Given the description of an element on the screen output the (x, y) to click on. 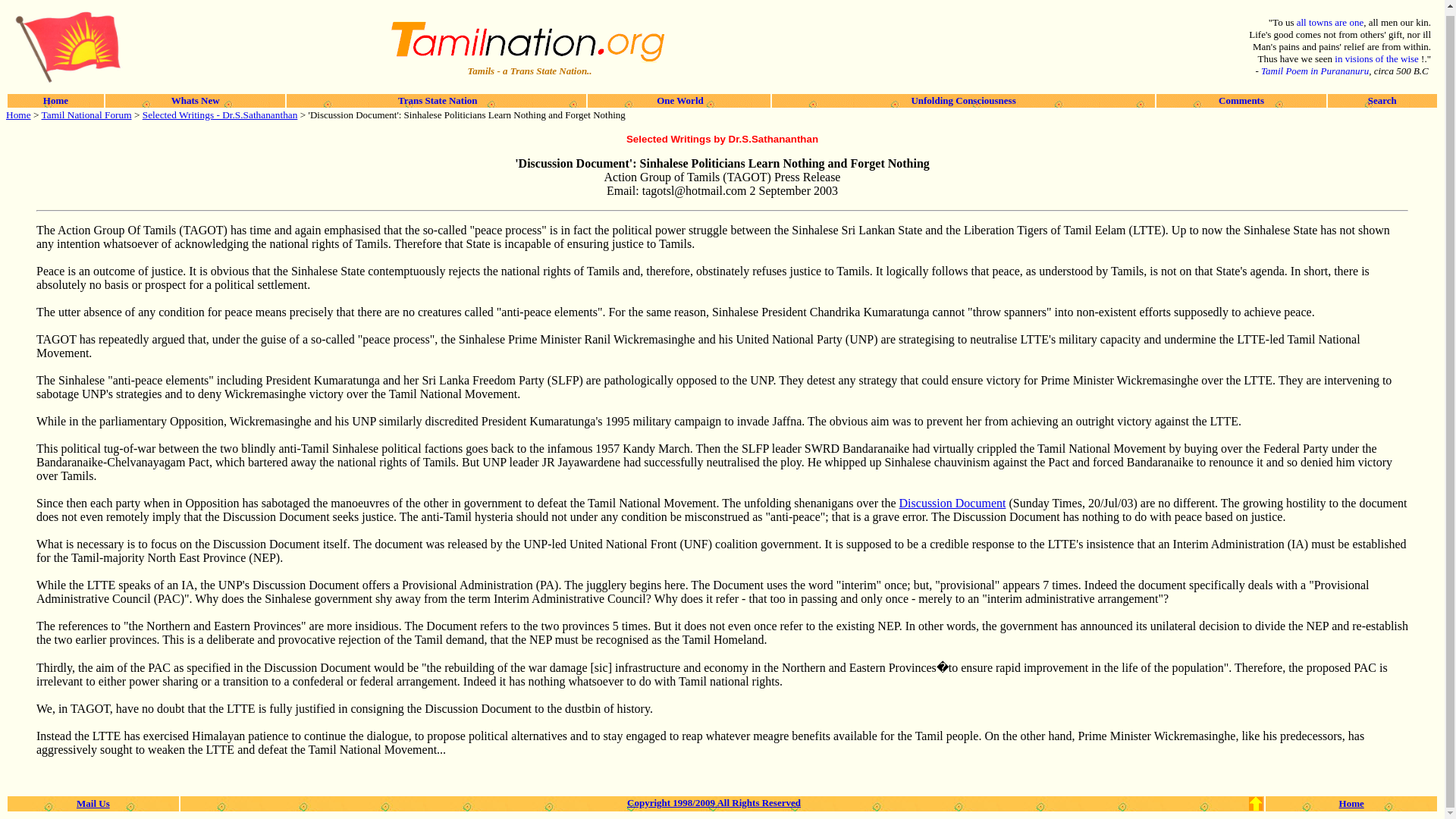
Selected Writings - Dr.S.Sathananthan (220, 114)
 One World (678, 100)
Tamil National Forum (87, 114)
 Trans State Nation (436, 100)
Home (17, 114)
Tamil Poem in Purananuru (1314, 70)
Search (1382, 100)
Unfolding Consciousness (962, 100)
Whats New (195, 100)
 Tamils - a Trans State Nation.. (527, 70)
Mail Us (93, 802)
in visions of the wise (1378, 58)
all towns are one (1329, 21)
Home (1351, 802)
Comments (1240, 100)
